Given the description of an element on the screen output the (x, y) to click on. 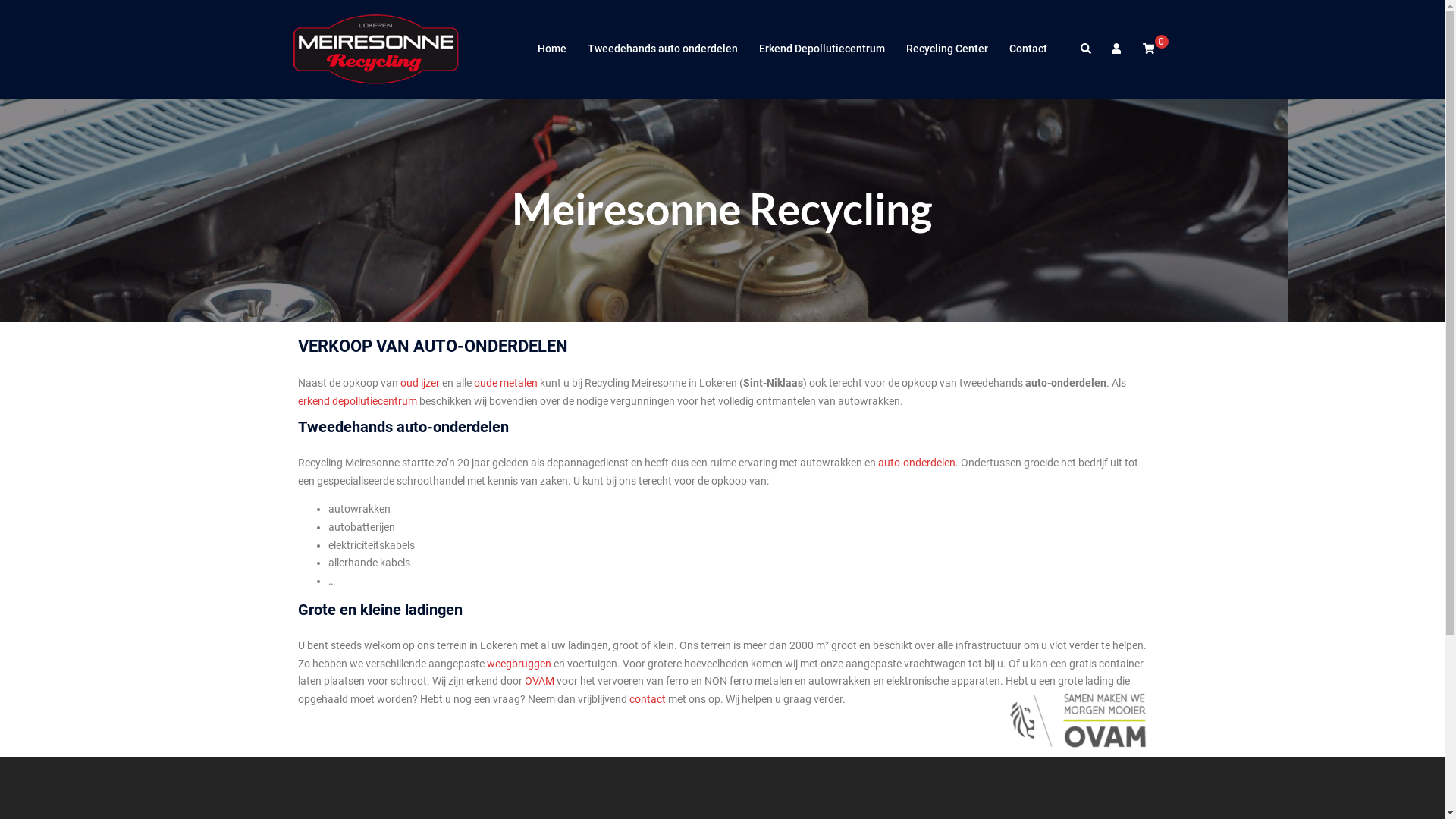
Home Element type: text (550, 49)
contact Element type: text (647, 699)
Contact Element type: text (1027, 49)
OVAM Element type: text (539, 680)
oude metalen Element type: text (504, 382)
oud ijzer Element type: text (419, 382)
weegbruggen Element type: text (518, 663)
auto-onderdelen. Element type: text (918, 462)
Je account Element type: hover (1117, 49)
Erkend Depollutiecentrum Element type: text (821, 49)
Recycling Center Element type: text (946, 49)
Meiresonne Element type: hover (376, 48)
erkend depollutiecentrum Element type: text (356, 401)
Tweedehands auto onderdelen Element type: text (661, 49)
0 Element type: text (1148, 48)
